Given the description of an element on the screen output the (x, y) to click on. 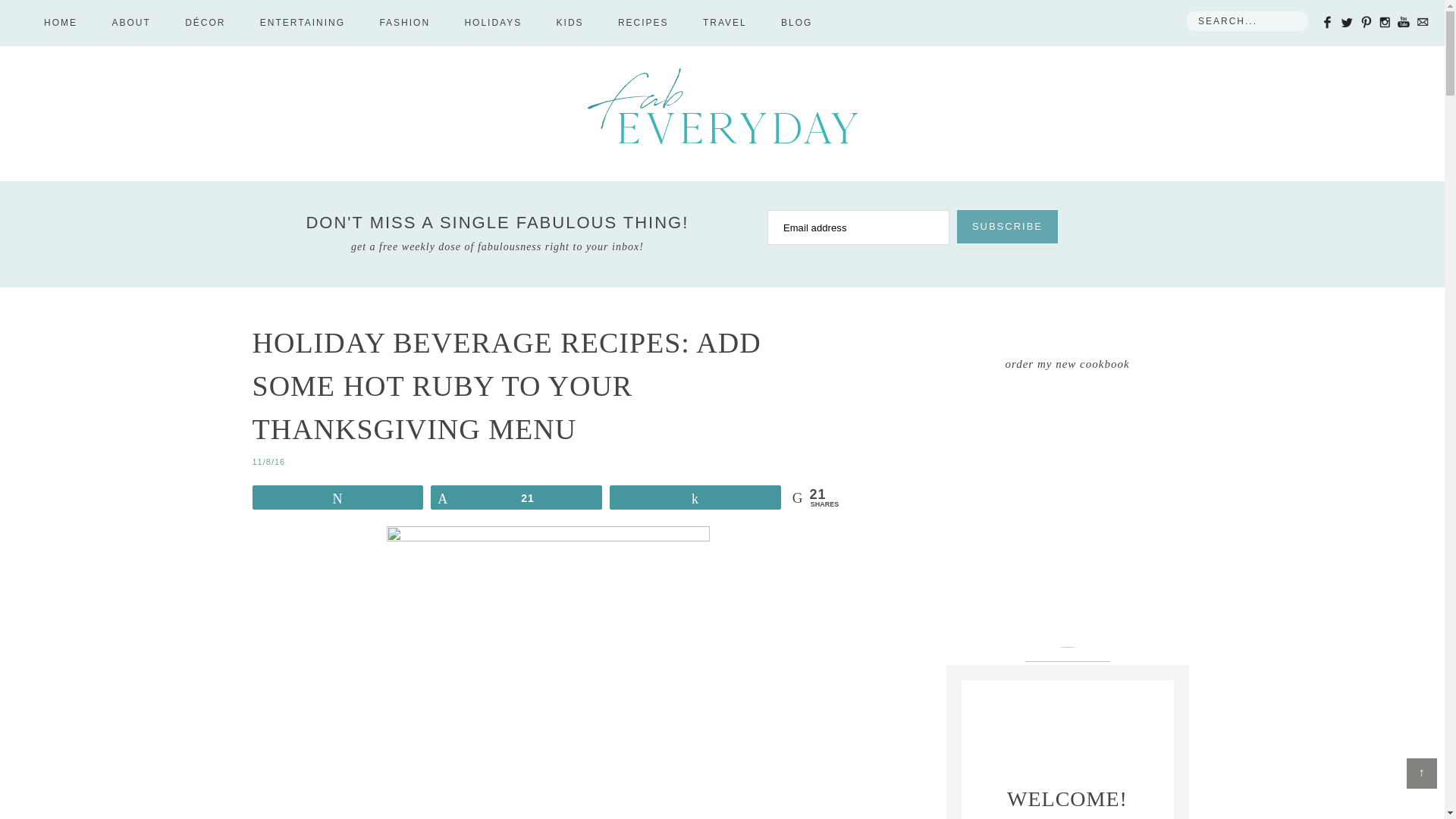
ENTERTAINING (301, 22)
KIDS (569, 22)
ABOUT (130, 22)
FASHION (404, 22)
HOLIDAYS (492, 22)
HOME (61, 22)
RECIPES (643, 22)
